Given the description of an element on the screen output the (x, y) to click on. 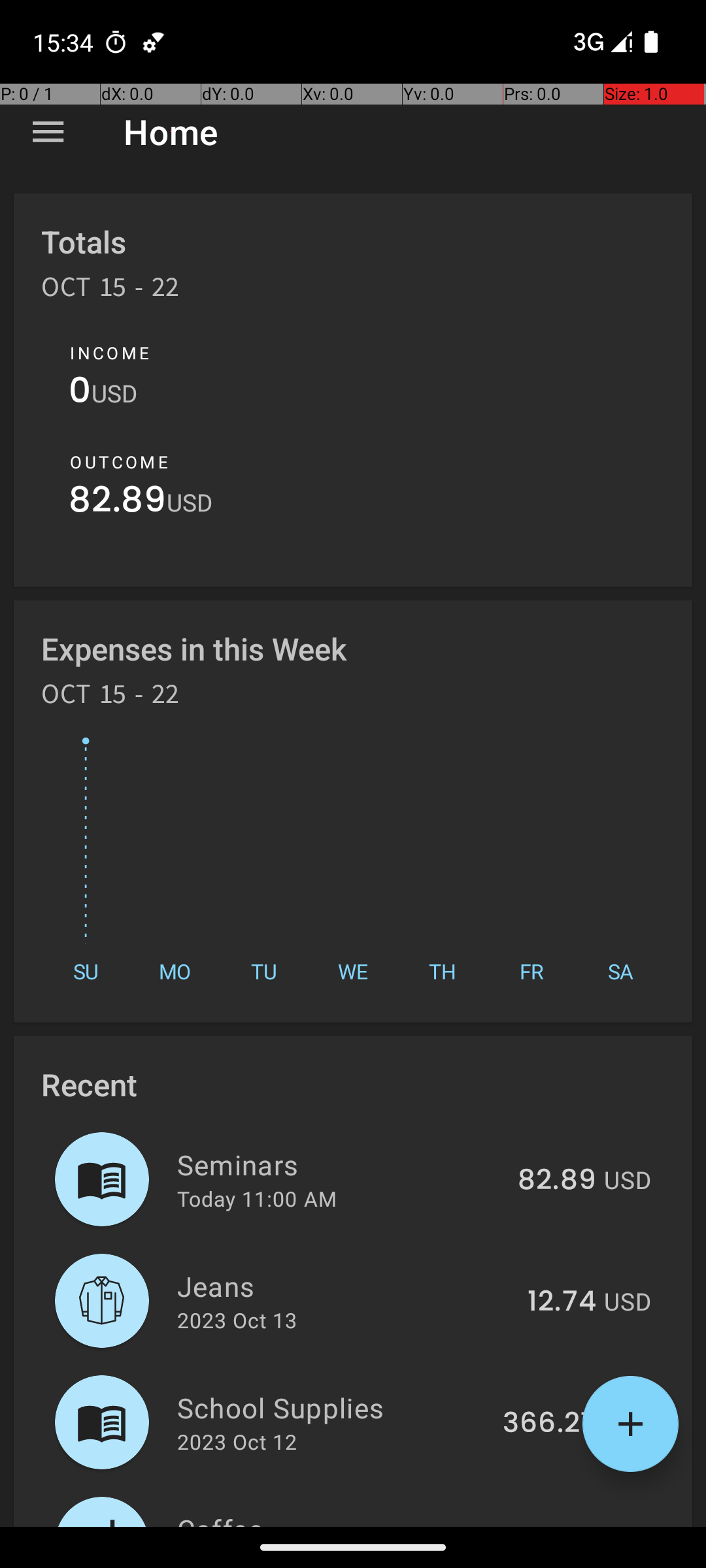
82.89 Element type: android.widget.TextView (117, 502)
Today 11:00 AM Element type: android.widget.TextView (256, 1198)
Jeans Element type: android.widget.TextView (344, 1285)
12.74 Element type: android.widget.TextView (561, 1301)
School Supplies Element type: android.widget.TextView (332, 1407)
366.27 Element type: android.widget.TextView (549, 1423)
411.97 Element type: android.widget.TextView (555, 1524)
